Given the description of an element on the screen output the (x, y) to click on. 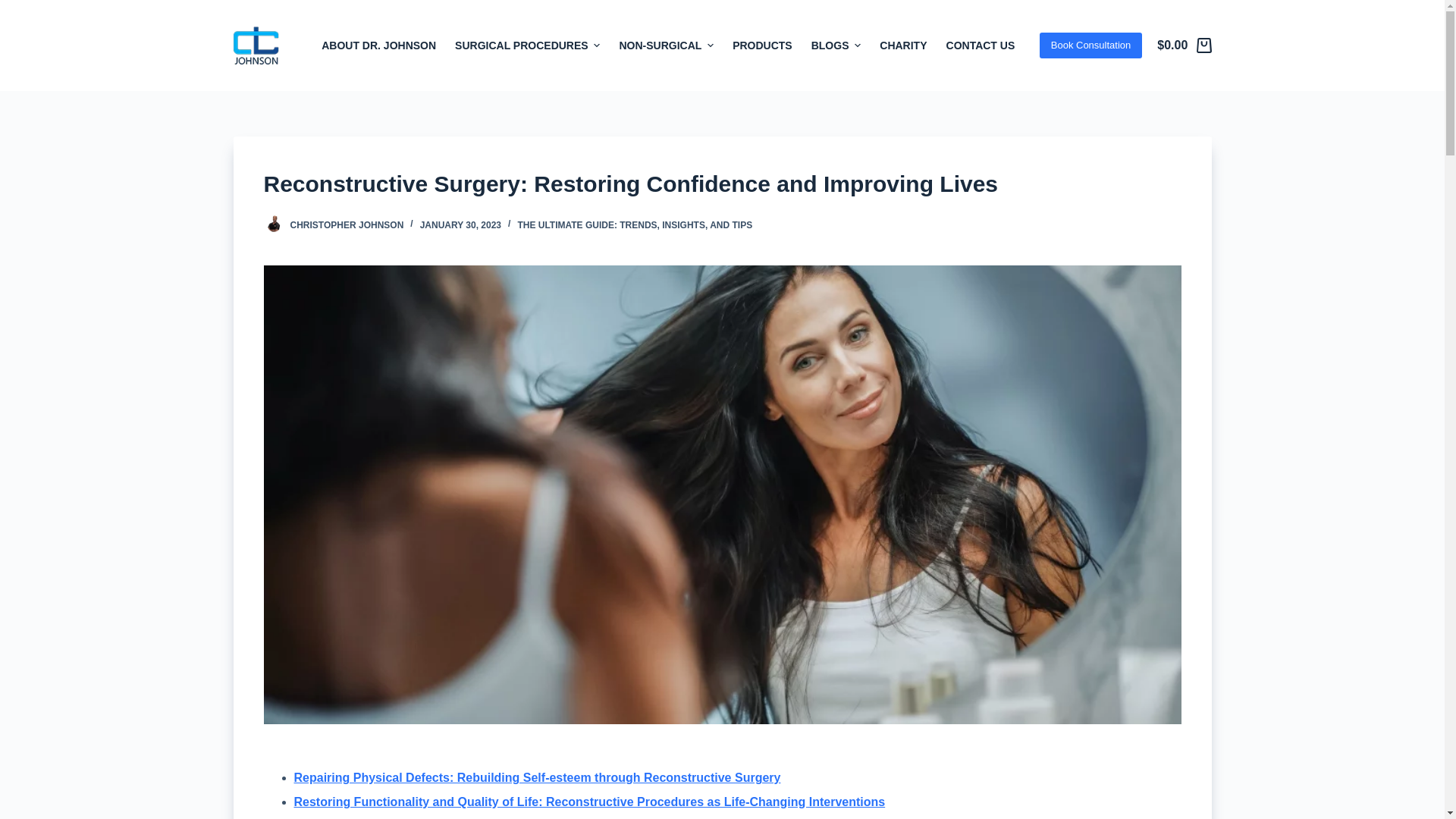
Skip to content (15, 7)
Posts by Christopher Johnson (346, 225)
